Given the description of an element on the screen output the (x, y) to click on. 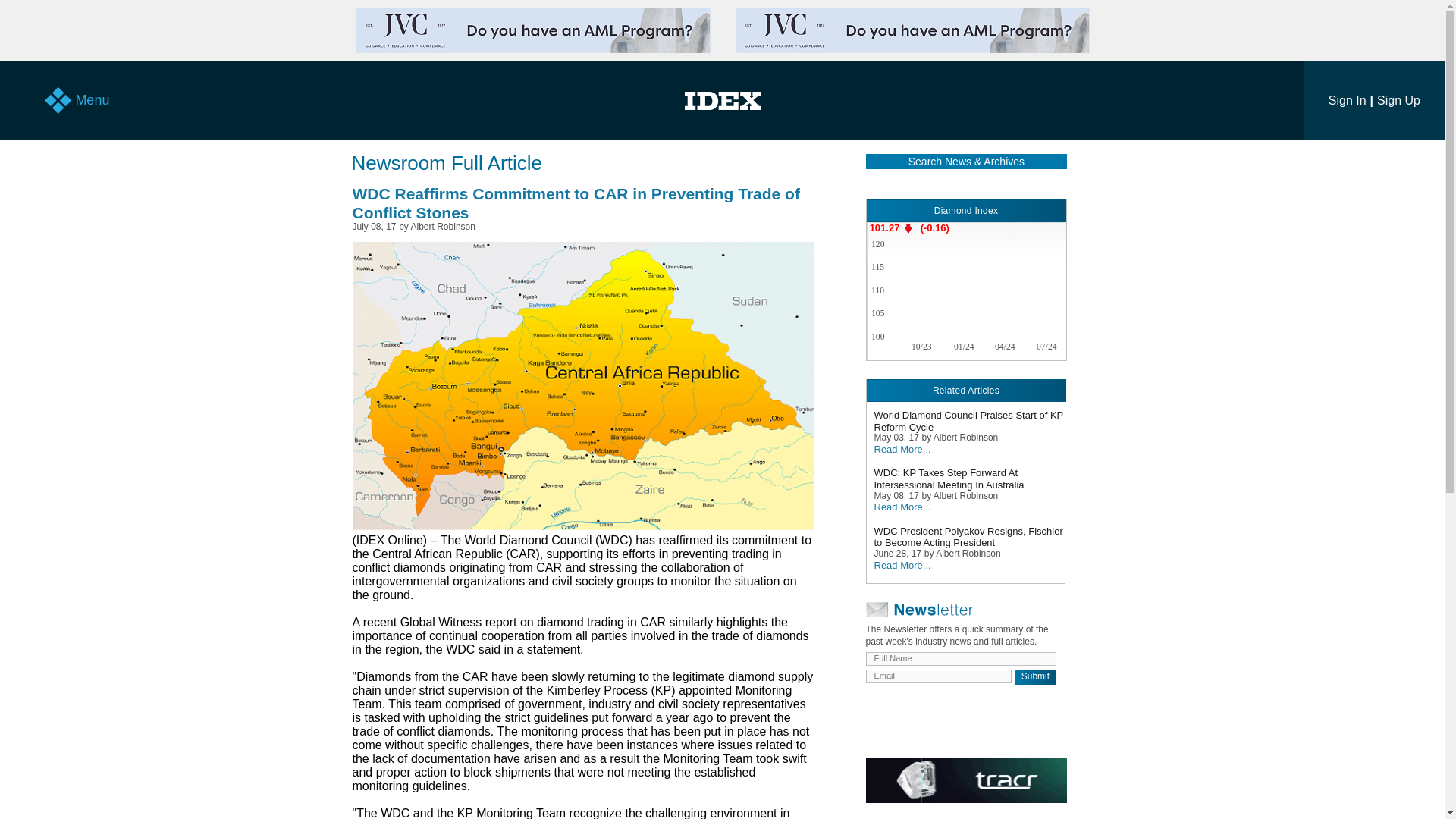
World Diamond Council Praises Start of KP Reform Cycle (968, 426)
Submit (1035, 676)
Read More... (901, 449)
Diamond Index (965, 210)
Sign Up (1399, 100)
Related Articles (965, 390)
Sign In (1347, 100)
